Given the description of an element on the screen output the (x, y) to click on. 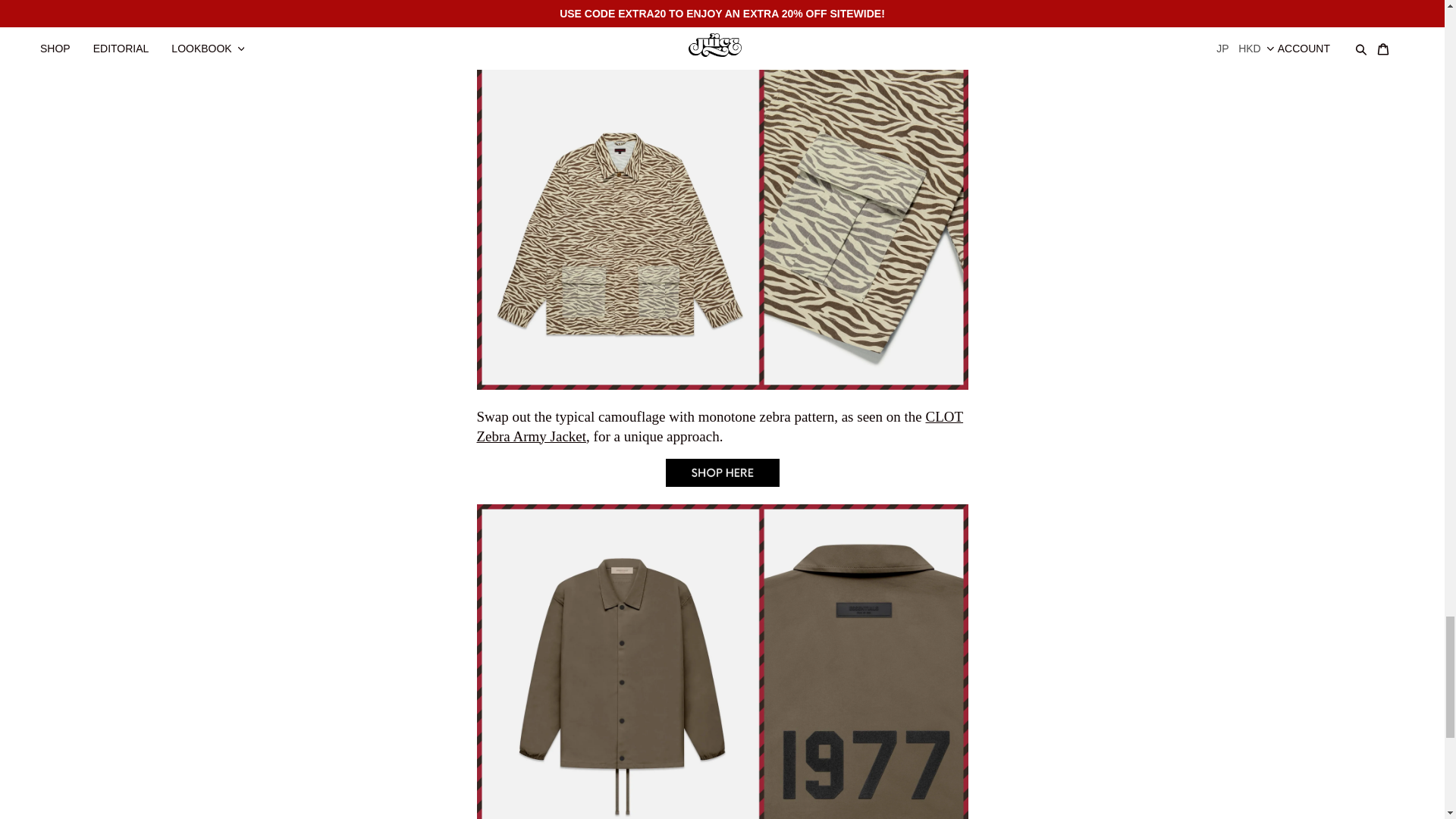
CLOT Zebra Army Jacket (721, 481)
CLOT Zebra Army Jacket (719, 425)
Phenomenon Mix Jacket (721, 39)
